Given the description of an element on the screen output the (x, y) to click on. 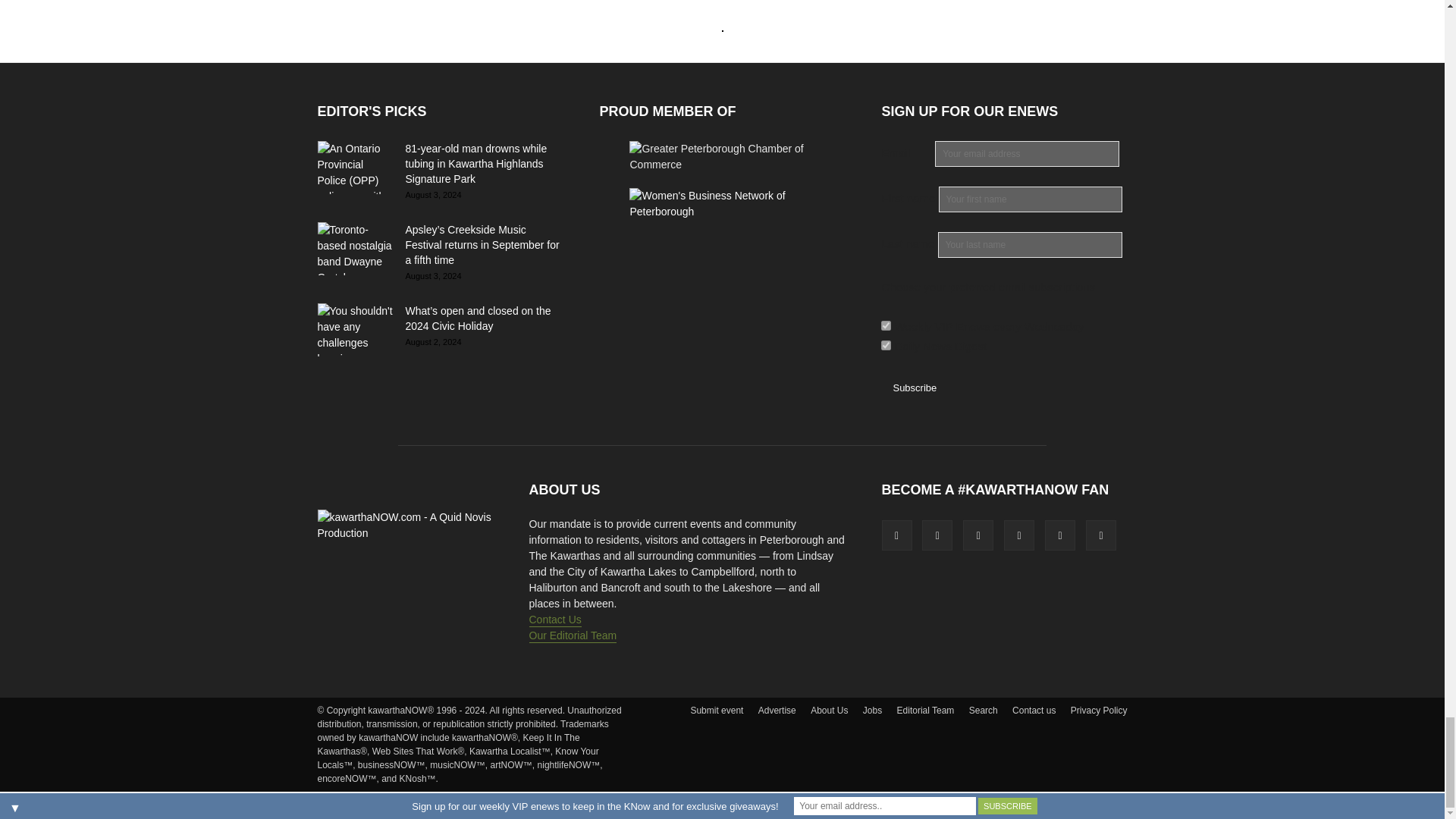
324c67885b (885, 345)
db73b12d6e (885, 325)
Subscribe (913, 387)
